Given the description of an element on the screen output the (x, y) to click on. 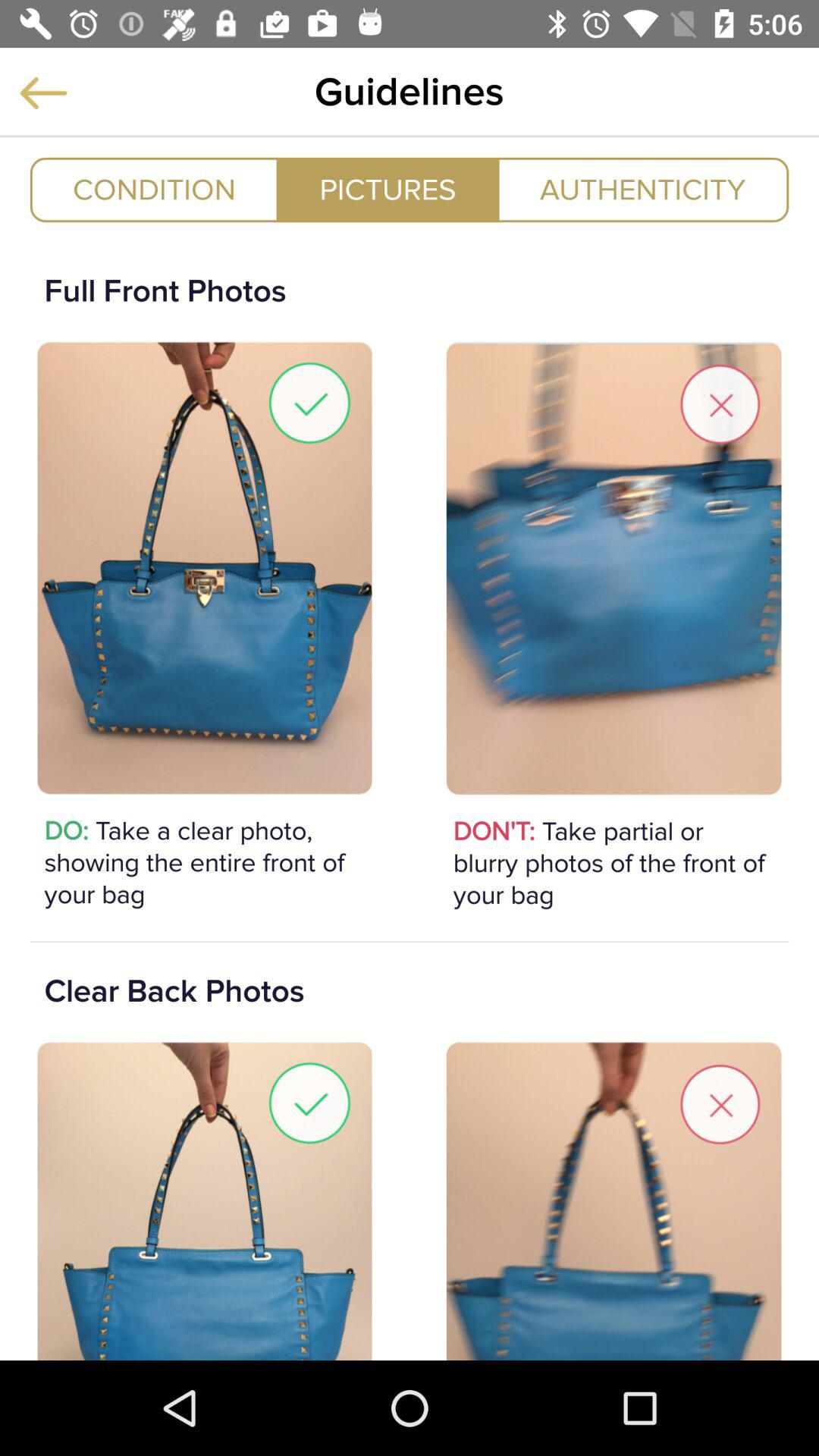
launch item below guidelines icon (387, 189)
